Given the description of an element on the screen output the (x, y) to click on. 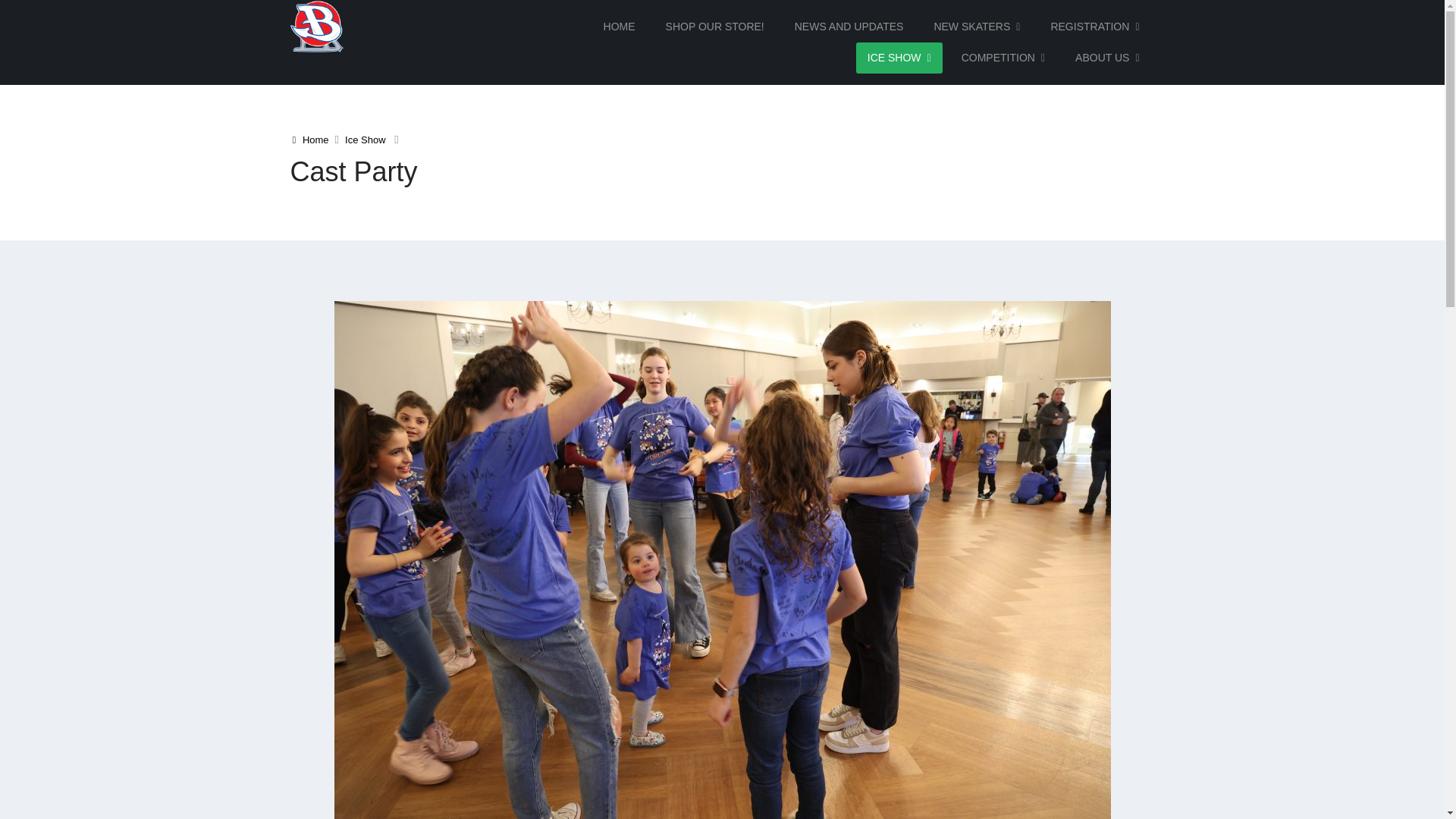
ICE SHOW (899, 57)
HOME (619, 26)
ABOUT US (1107, 57)
NEW SKATERS (975, 26)
Burlington Skating - Learn-to-Skate and Figure Skating (315, 25)
go to home (310, 139)
NEWS AND UPDATES (849, 26)
Ice Show (365, 139)
SHOP OUR STORE! (714, 26)
Home (310, 139)
COMPETITION (1003, 57)
Burlington Skating - Learn-to-Skate and Figure Skating (315, 26)
Ice Show (365, 139)
REGISTRATION (1094, 26)
